Given the description of an element on the screen output the (x, y) to click on. 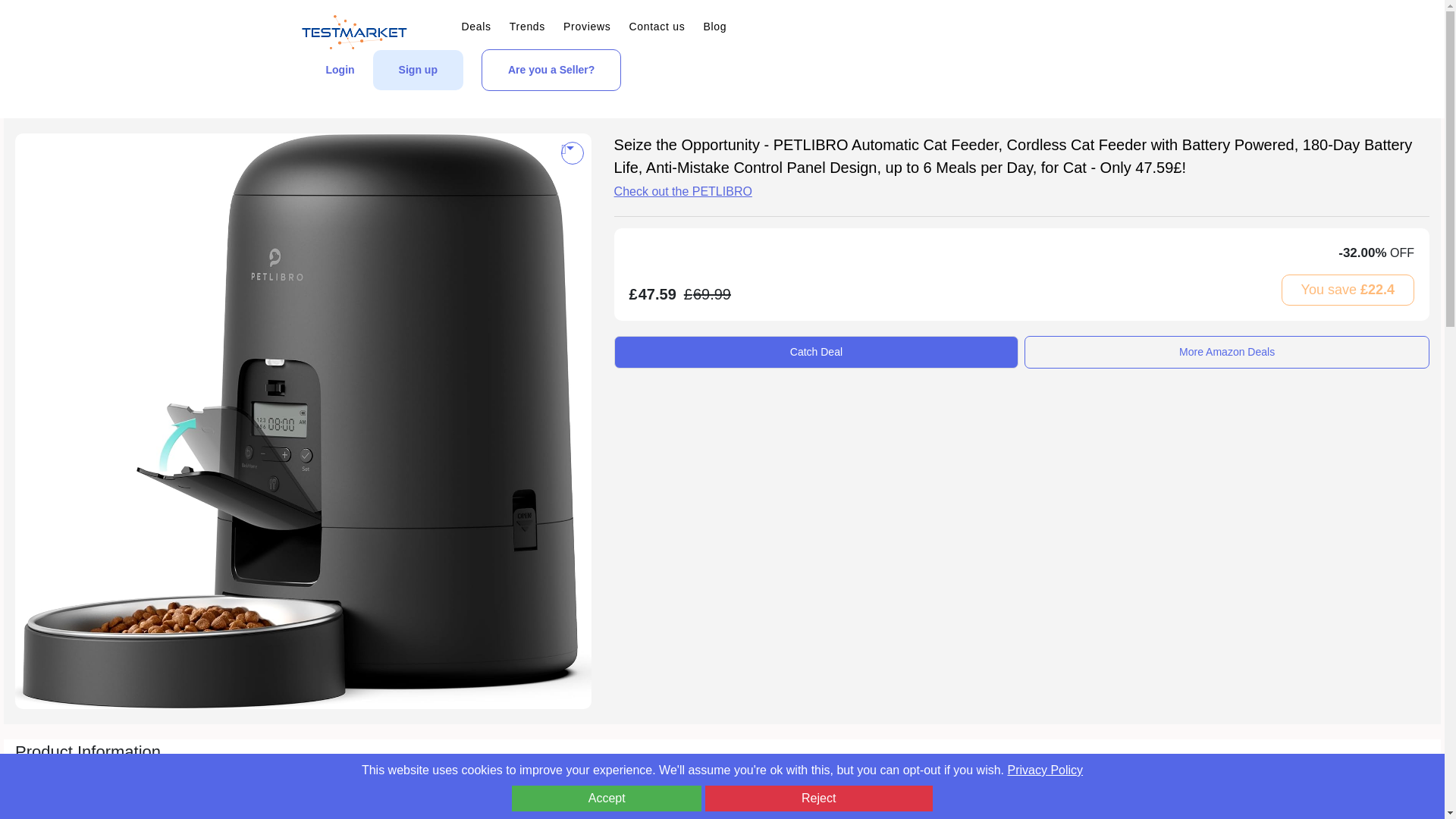
Deals (475, 26)
Home (635, 98)
Sign up (417, 69)
Proviews (586, 26)
Catch Deal (816, 350)
Are you a Seller? (551, 69)
Trends (526, 26)
Contact us (656, 26)
Check out the PETLIBRO (683, 191)
Blog (714, 26)
Login (340, 69)
More Amazon Deals (1227, 350)
Today's Deals (700, 98)
Amazon Deals (785, 98)
